Given the description of an element on the screen output the (x, y) to click on. 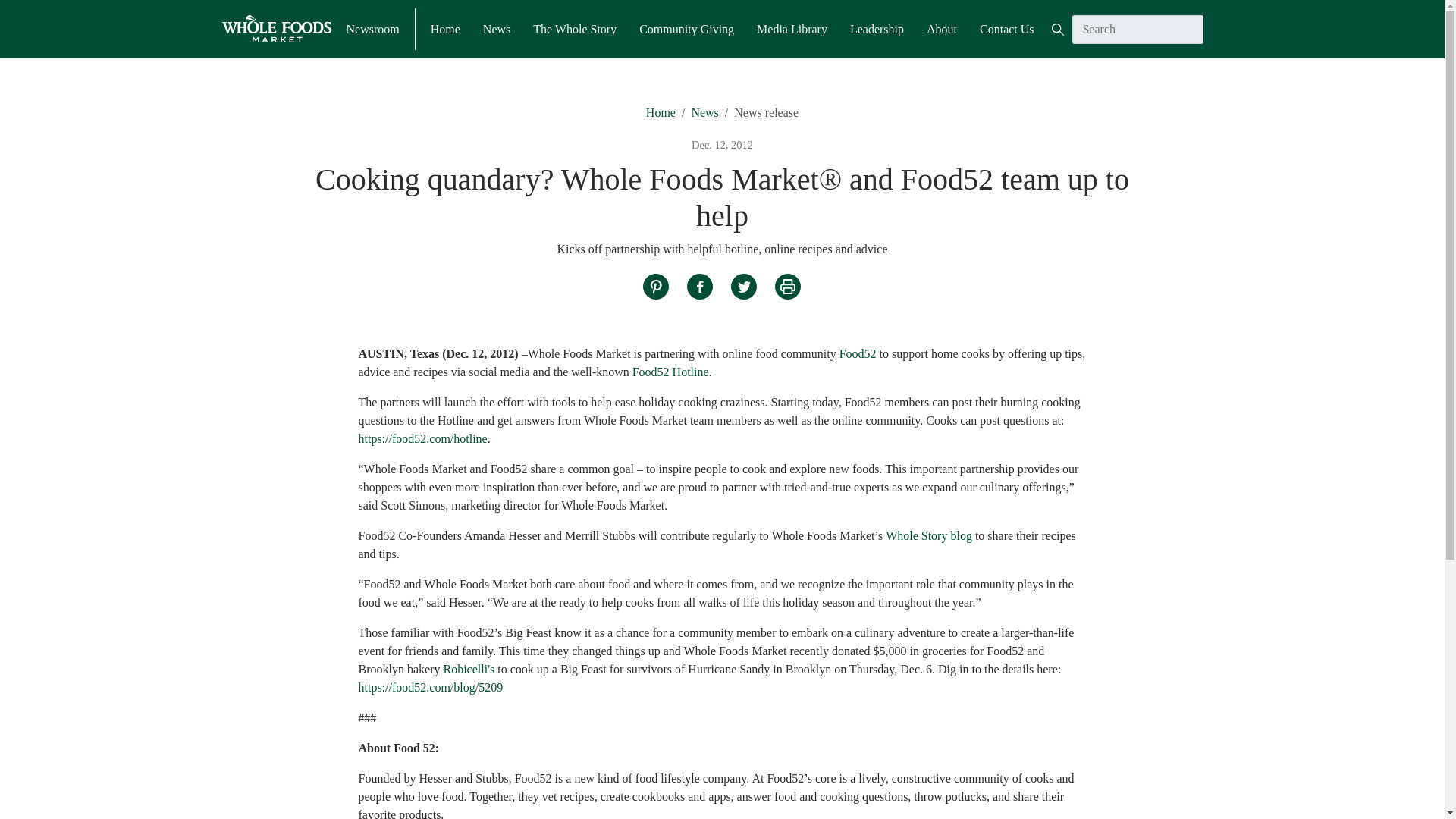
Food52 (858, 353)
News (497, 28)
The Whole Story (573, 28)
Whole Foods Market (275, 29)
Contact Us (1006, 28)
Leadership (877, 28)
Food52 Hotline (670, 371)
Whole Story blog (928, 535)
Home (660, 112)
About (941, 28)
Community Giving (686, 28)
Robicelli's (468, 668)
News (703, 112)
Home (445, 28)
Media Library (792, 28)
